Given the description of an element on the screen output the (x, y) to click on. 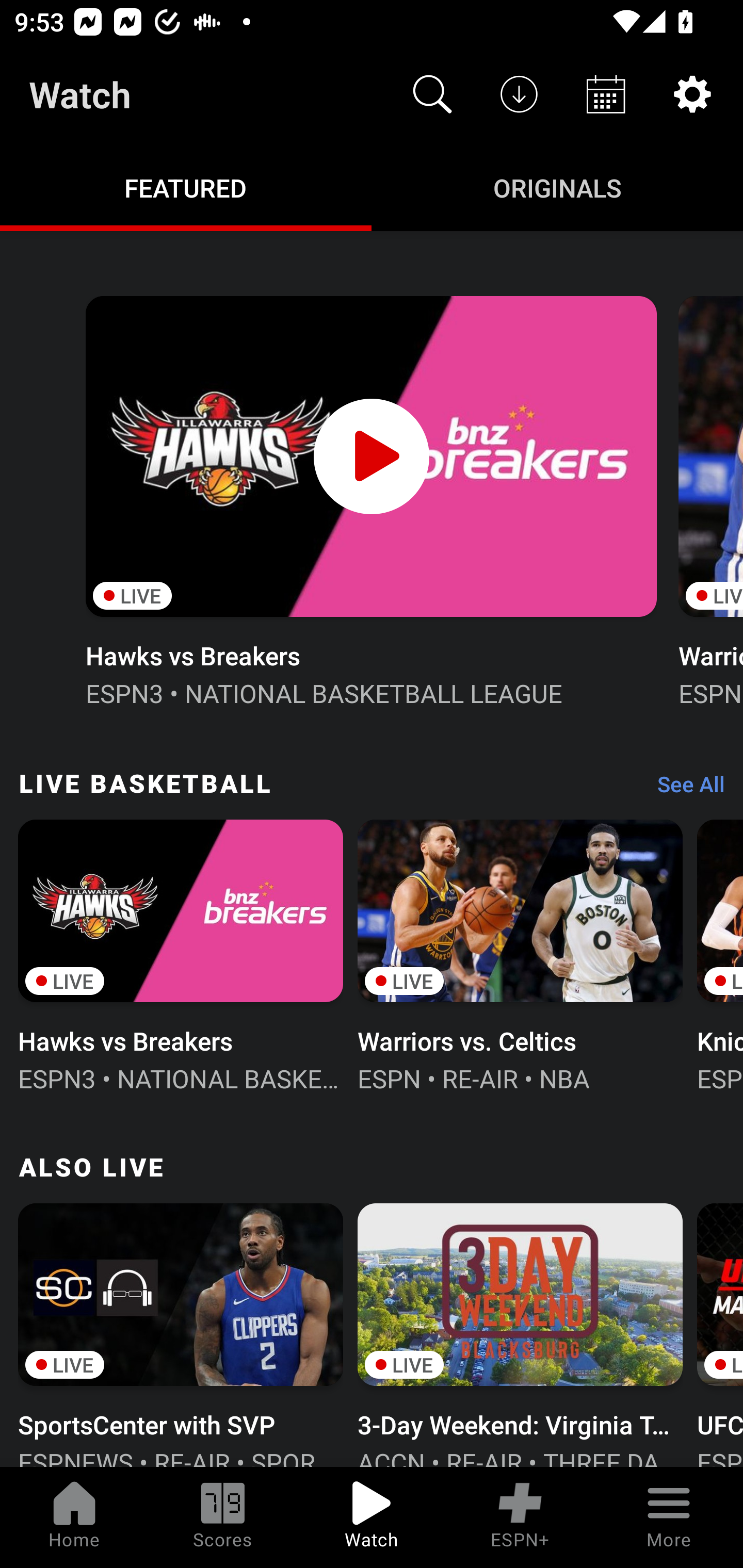
Search (432, 93)
Downloads (518, 93)
Schedule (605, 93)
Settings (692, 93)
Originals ORIGINALS (557, 187)
See All (683, 788)
LIVE Warriors vs. Celtics ESPN • RE-AIR • NBA (519, 954)
Home (74, 1517)
Scores (222, 1517)
ESPN+ (519, 1517)
More (668, 1517)
